Given the description of an element on the screen output the (x, y) to click on. 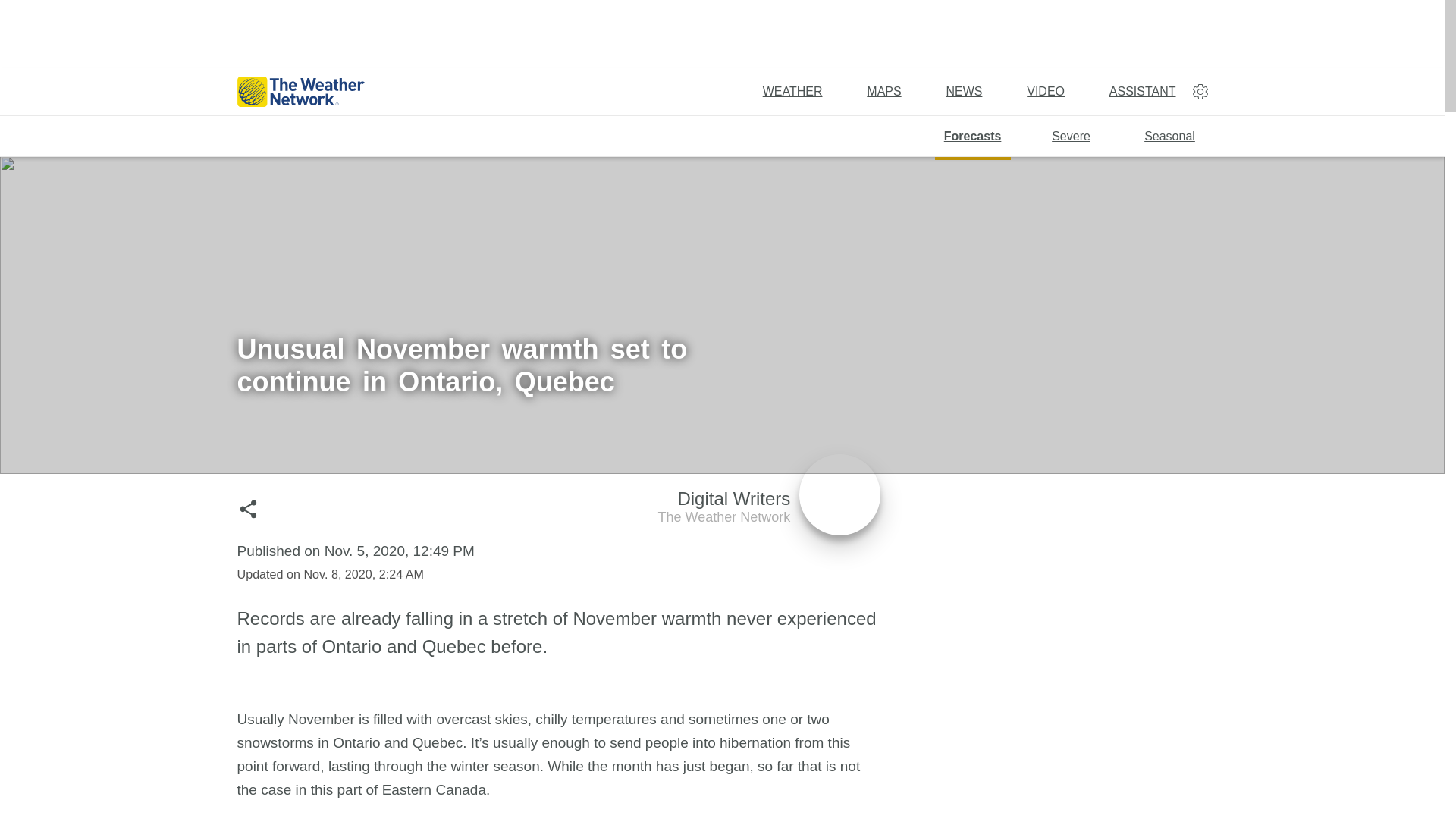
Seasonal (1169, 137)
Severe (1071, 137)
NEWS (963, 91)
ASSISTANT (769, 509)
Forecasts (1142, 91)
VIDEO (972, 137)
MAPS (1045, 91)
WEATHER (883, 91)
